Given the description of an element on the screen output the (x, y) to click on. 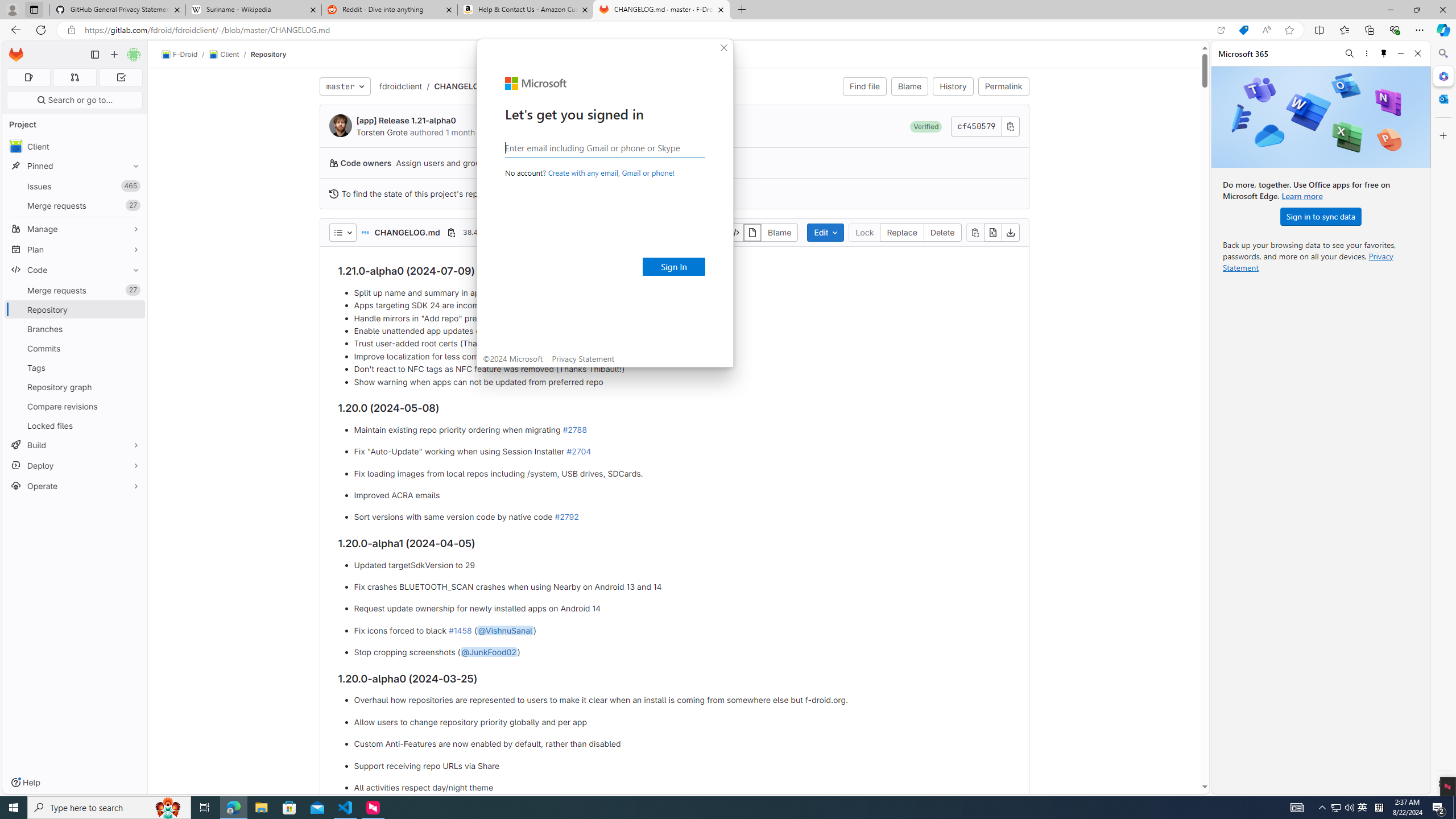
Locked files (74, 425)
Create new... (113, 54)
Support receiving repo URLs via Share (681, 765)
Running applications (707, 807)
Operate (74, 485)
Sign In (673, 266)
Deploy (74, 465)
Plan (74, 248)
Build (74, 444)
Merge requests 27 (74, 289)
Compare revisions (74, 406)
